Given the description of an element on the screen output the (x, y) to click on. 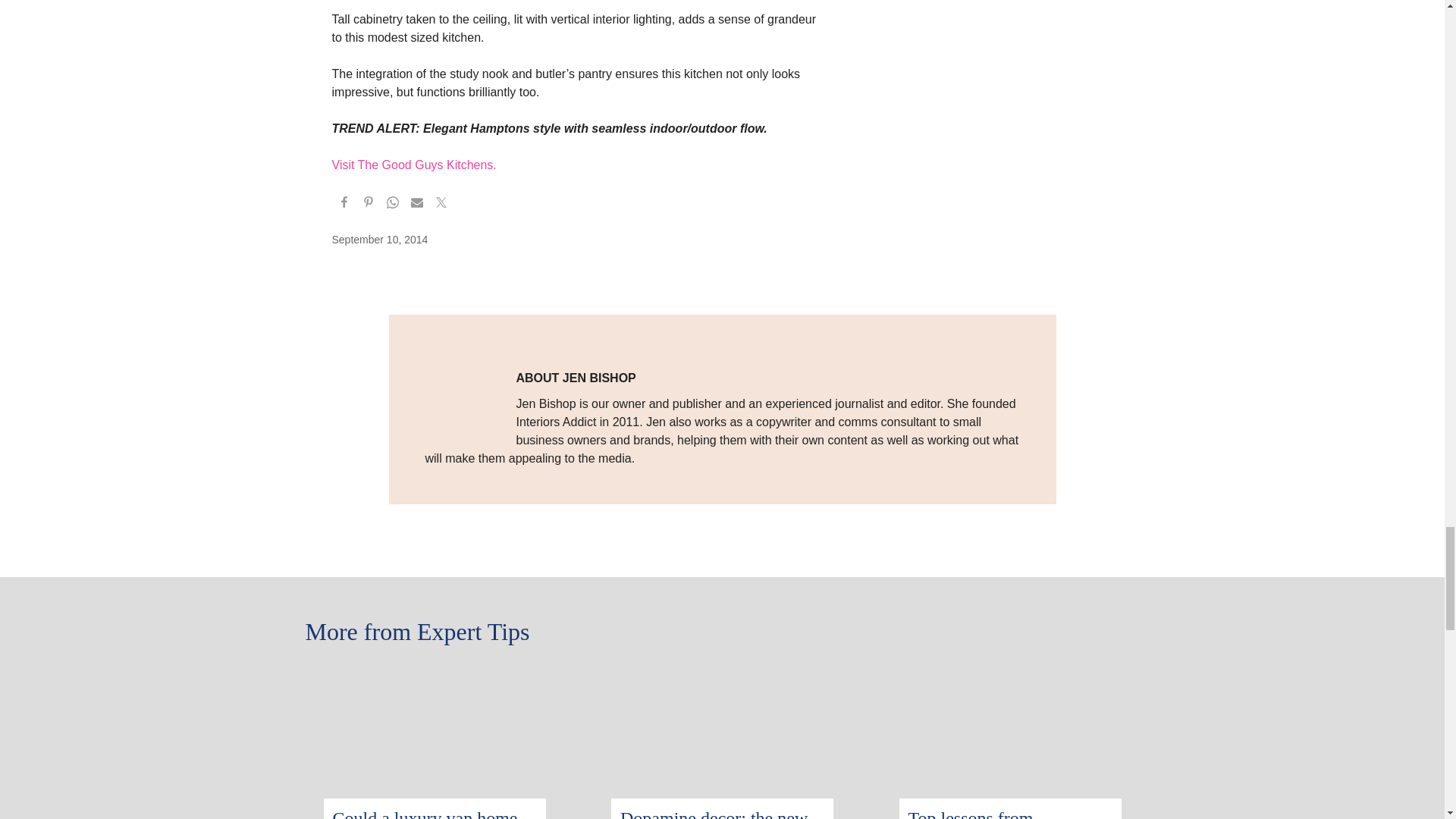
Dopamine decor: the new trend for our homes (721, 676)
Share via Email (416, 204)
Share on Twitter (440, 204)
Share on Facebook (343, 204)
Share on Pinterest (368, 204)
Dopamine decor: the new trend for our homes (714, 813)
